Given the description of an element on the screen output the (x, y) to click on. 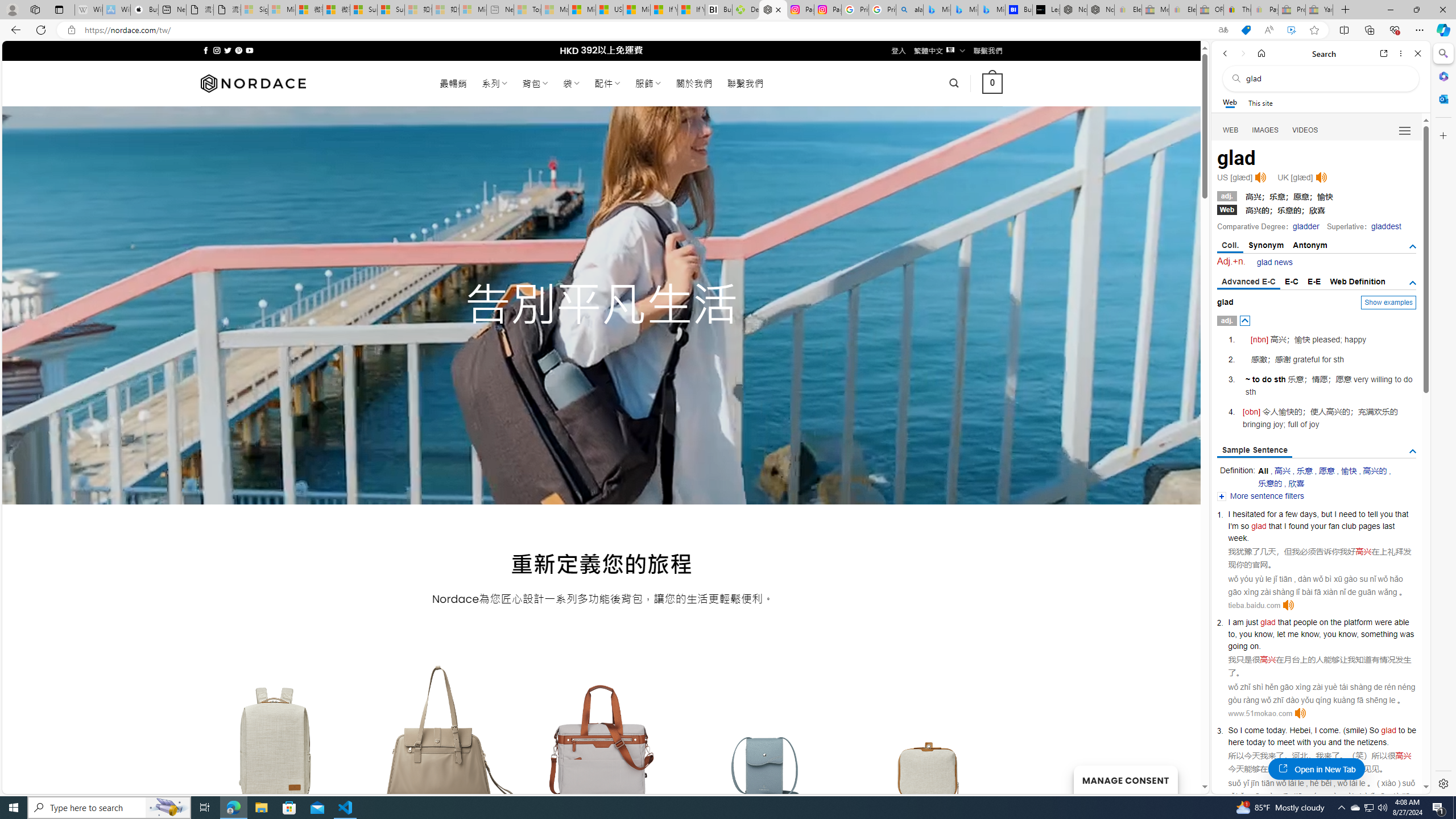
Microsoft Bing Travel - Flights from Hong Kong to Bangkok (936, 9)
AutomationID: tgsb (1412, 246)
people (1304, 621)
Antonym (1310, 245)
Open link in new tab (1383, 53)
Advanced E-C (1248, 282)
able (1401, 621)
